Given the description of an element on the screen output the (x, y) to click on. 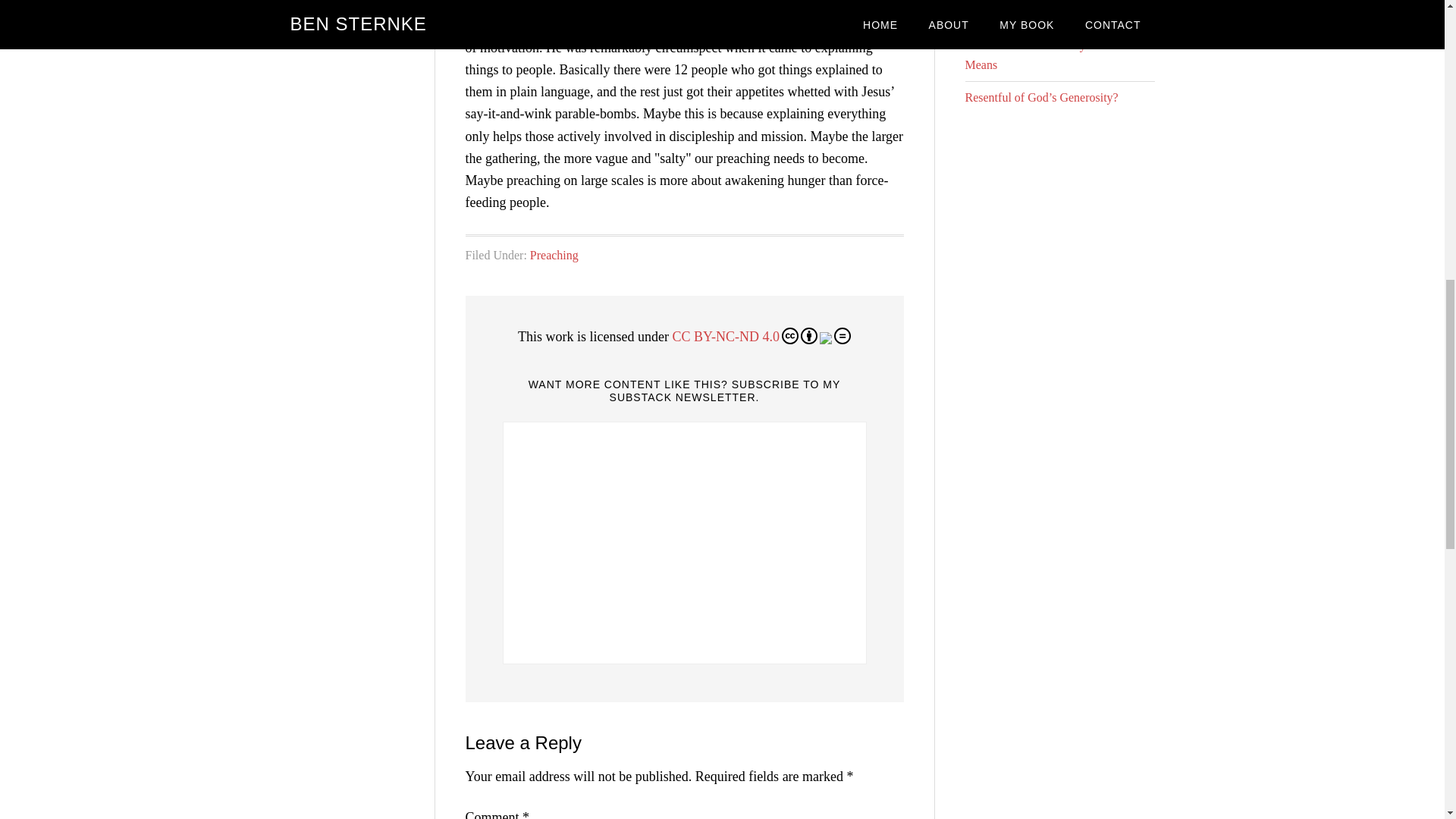
CC BY-NC-ND 4.0 (760, 336)
Anger and Anguish Must Go Together (1056, 11)
Preaching (553, 254)
